Given the description of an element on the screen output the (x, y) to click on. 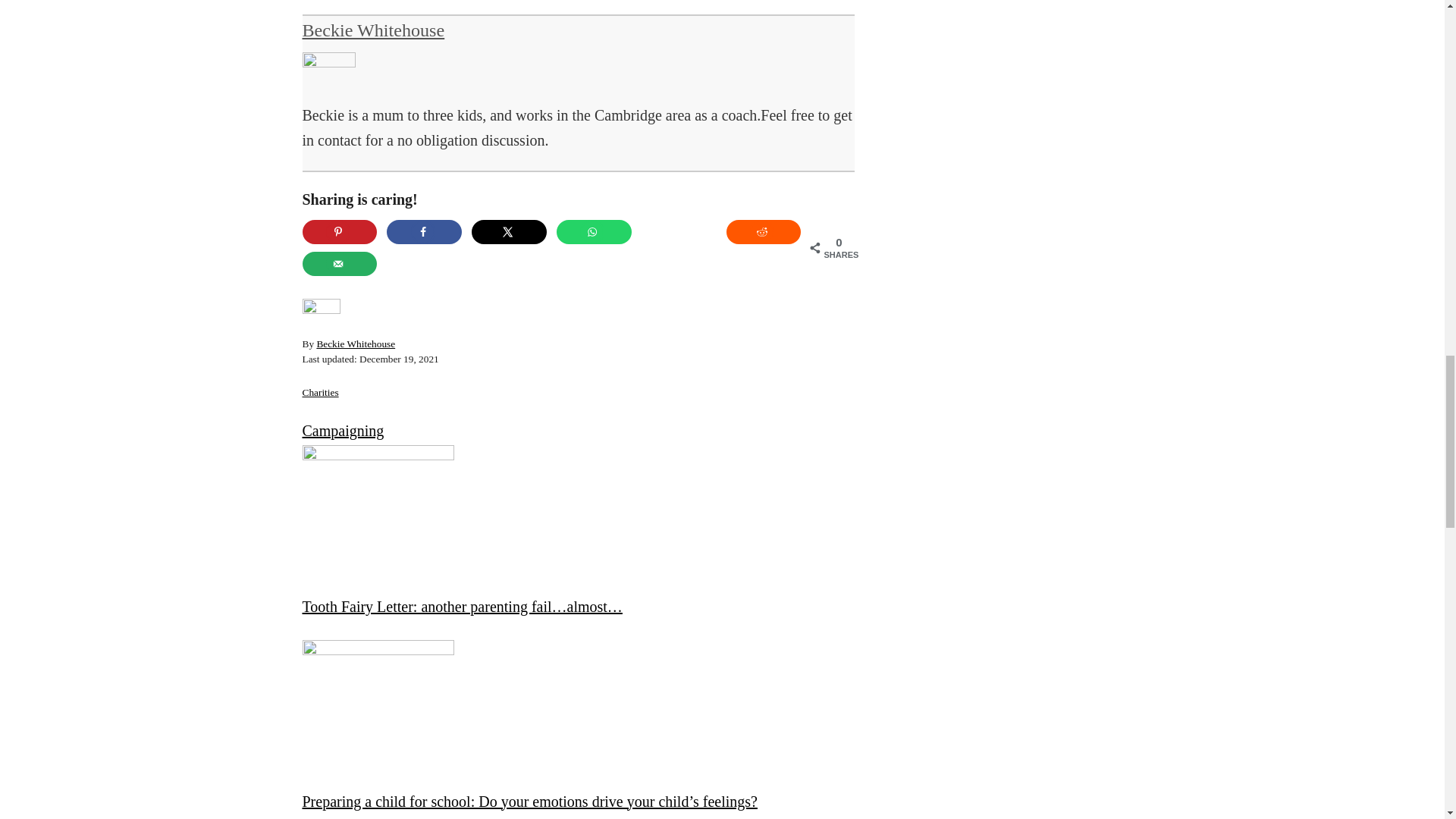
Send over email (339, 263)
Save to Pinterest (339, 232)
Share on Facebook (424, 232)
Share on Buffer (679, 232)
All posts by Beckie Whitehouse (372, 30)
Share on X (509, 232)
Share on Reddit (764, 232)
Share on WhatsApp (593, 232)
